Given the description of an element on the screen output the (x, y) to click on. 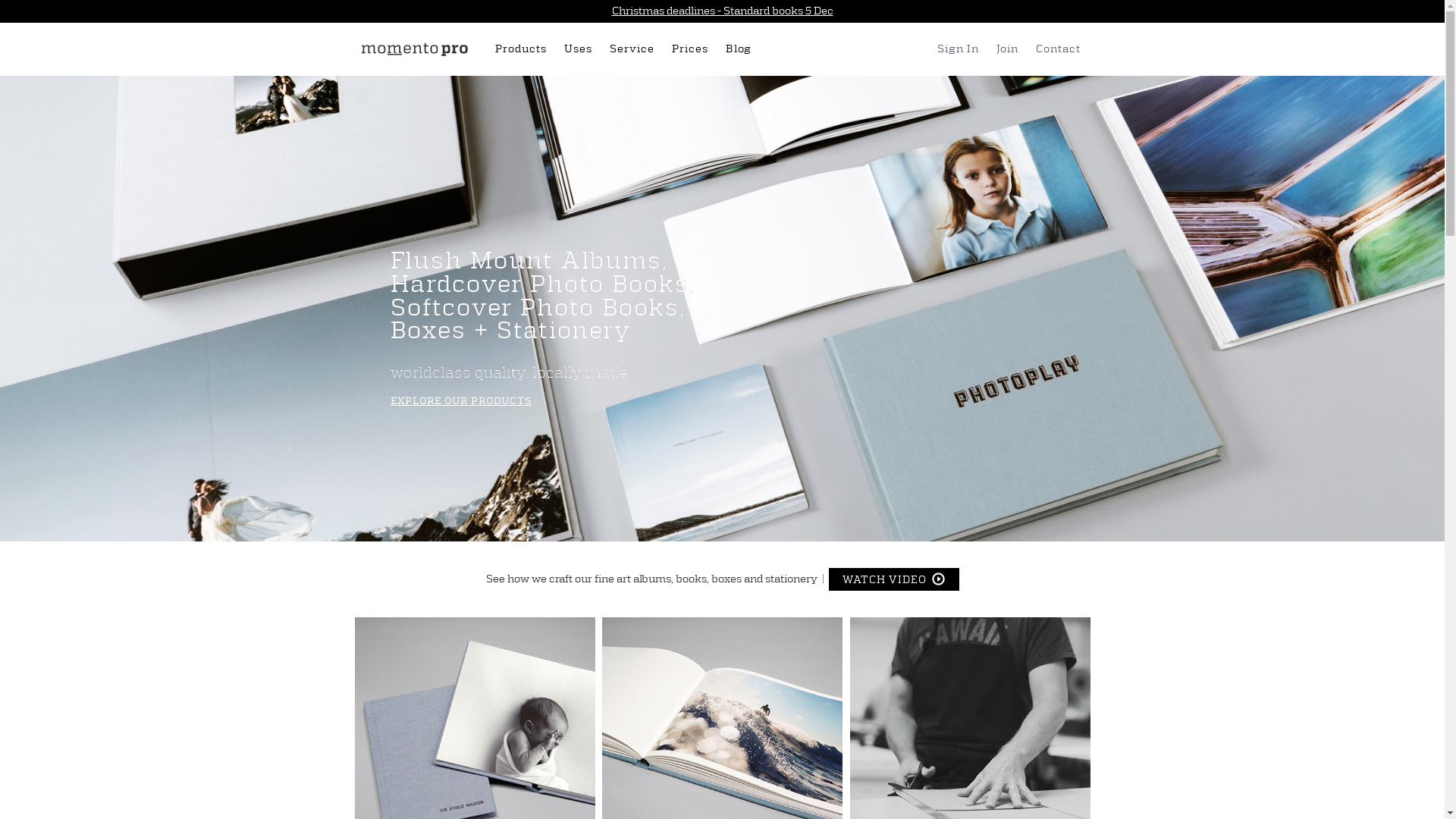
EXPLORE OUR PRODUCTS Element type: text (460, 400)
Join Element type: text (1009, 49)
Products Element type: text (523, 49)
Blog Element type: text (740, 49)
WATCH VIDEO Element type: text (893, 578)
Christmas deadlines - Standard books 5 Dec Element type: text (721, 11)
Sign In Element type: text (960, 49)
Service Element type: text (634, 49)
Uses Element type: text (580, 49)
Prices Element type: text (692, 49)
Contact Element type: text (1060, 49)
